Given the description of an element on the screen output the (x, y) to click on. 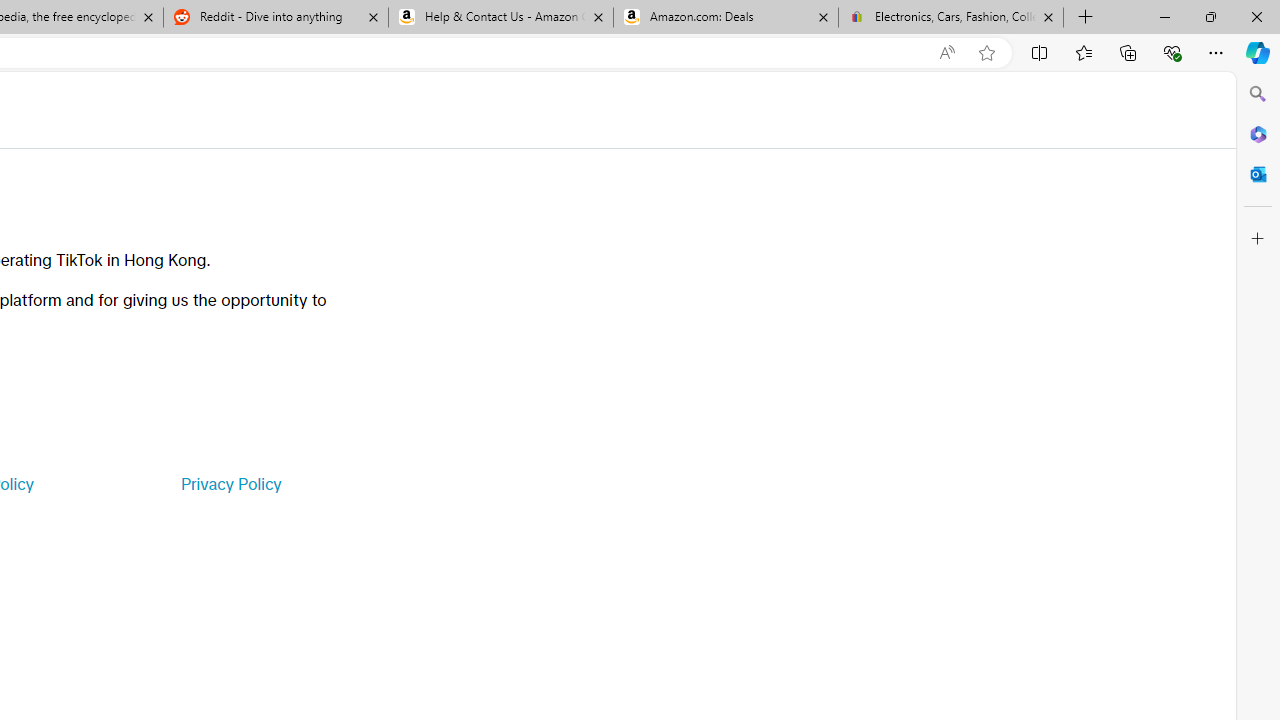
Privacy Policy (230, 484)
Amazon.com: Deals (726, 17)
